Given the description of an element on the screen output the (x, y) to click on. 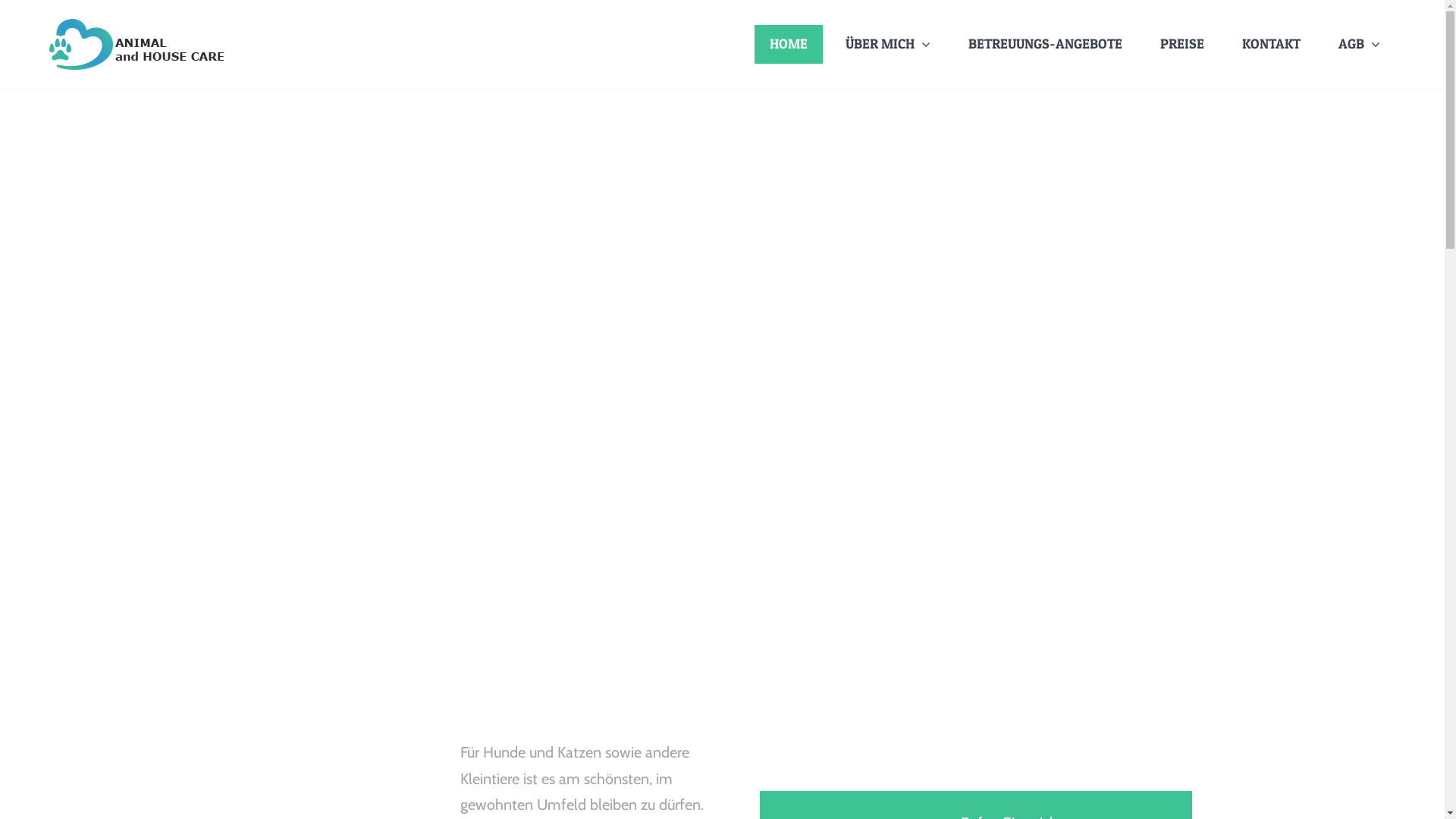
line_separator Element type: hover (722, 185)
KONTAKT Element type: text (1270, 44)
HOME Element type: text (788, 44)
pets_big Element type: hover (721, 472)
AGB Element type: text (1359, 44)
BETREUUNGS-ANGEBOTE Element type: text (1045, 44)
PREISE Element type: text (1182, 44)
